Given the description of an element on the screen output the (x, y) to click on. 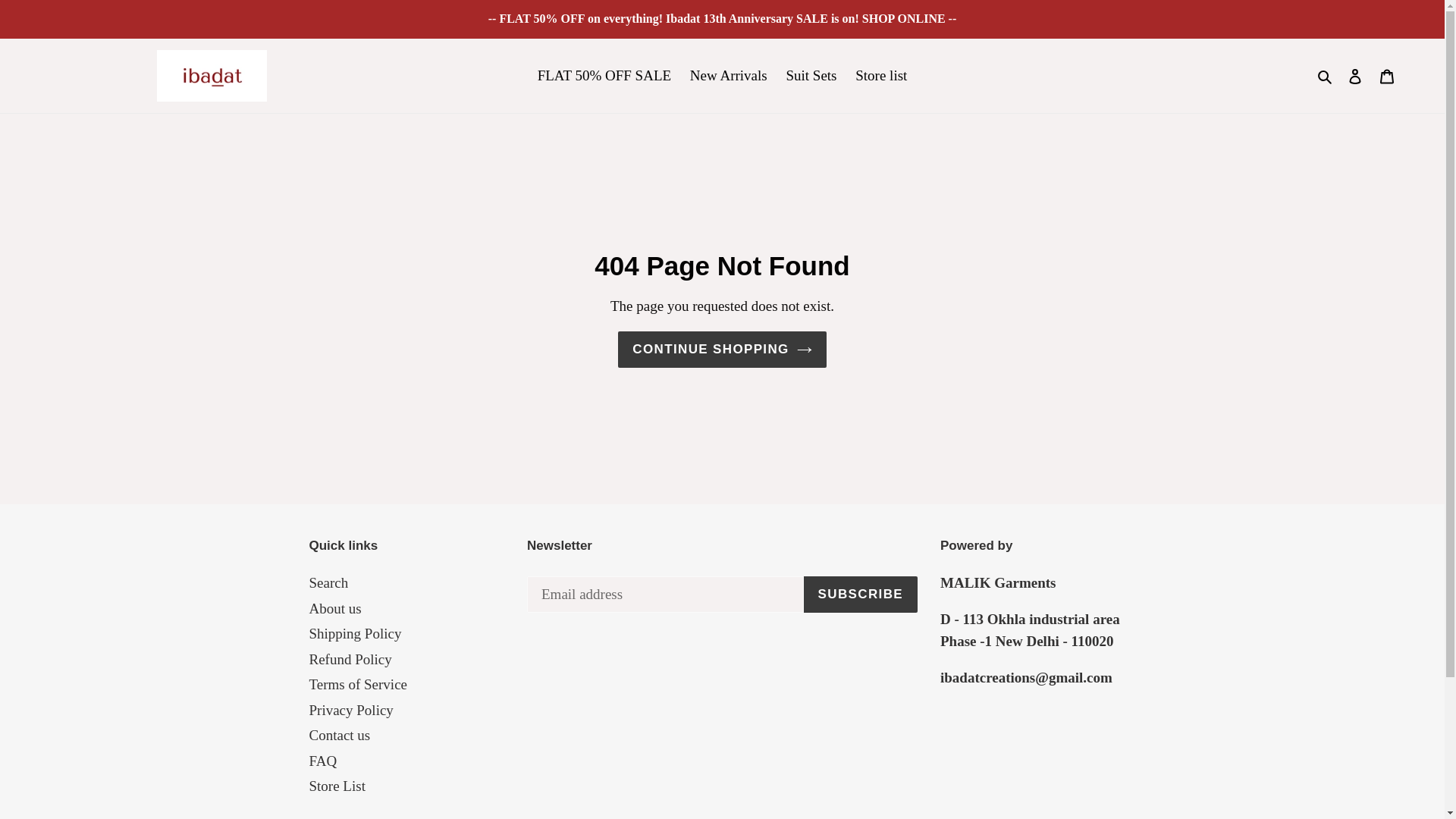
New Arrivals (728, 76)
Refund Policy (349, 659)
Search (1326, 75)
Store List (336, 785)
CONTINUE SHOPPING (721, 349)
Privacy Policy (350, 709)
SUBSCRIBE (860, 594)
FAQ (322, 760)
Shipping Policy (354, 633)
Store list (880, 76)
